Given the description of an element on the screen output the (x, y) to click on. 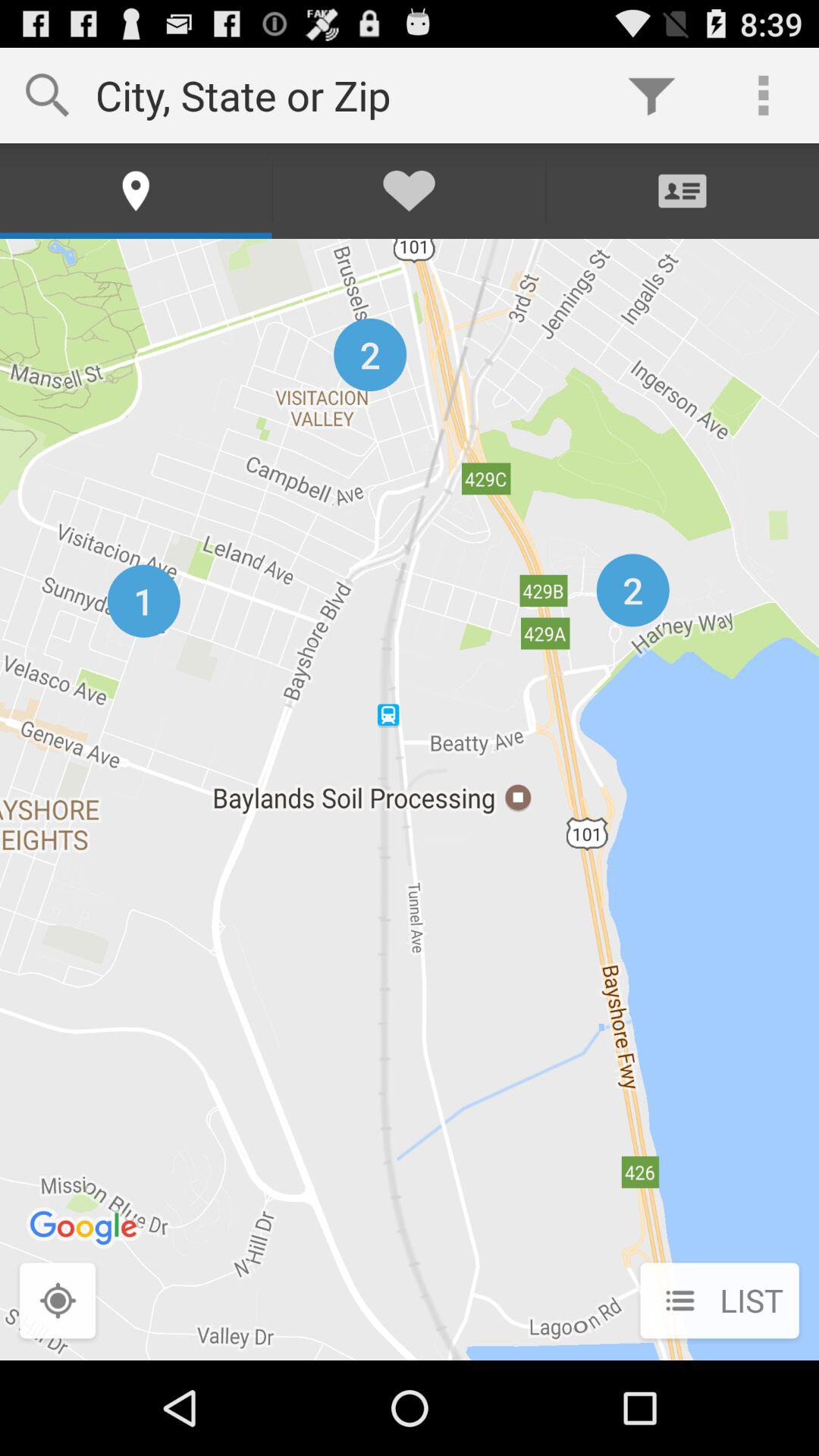
click item at the center (409, 799)
